Given the description of an element on the screen output the (x, y) to click on. 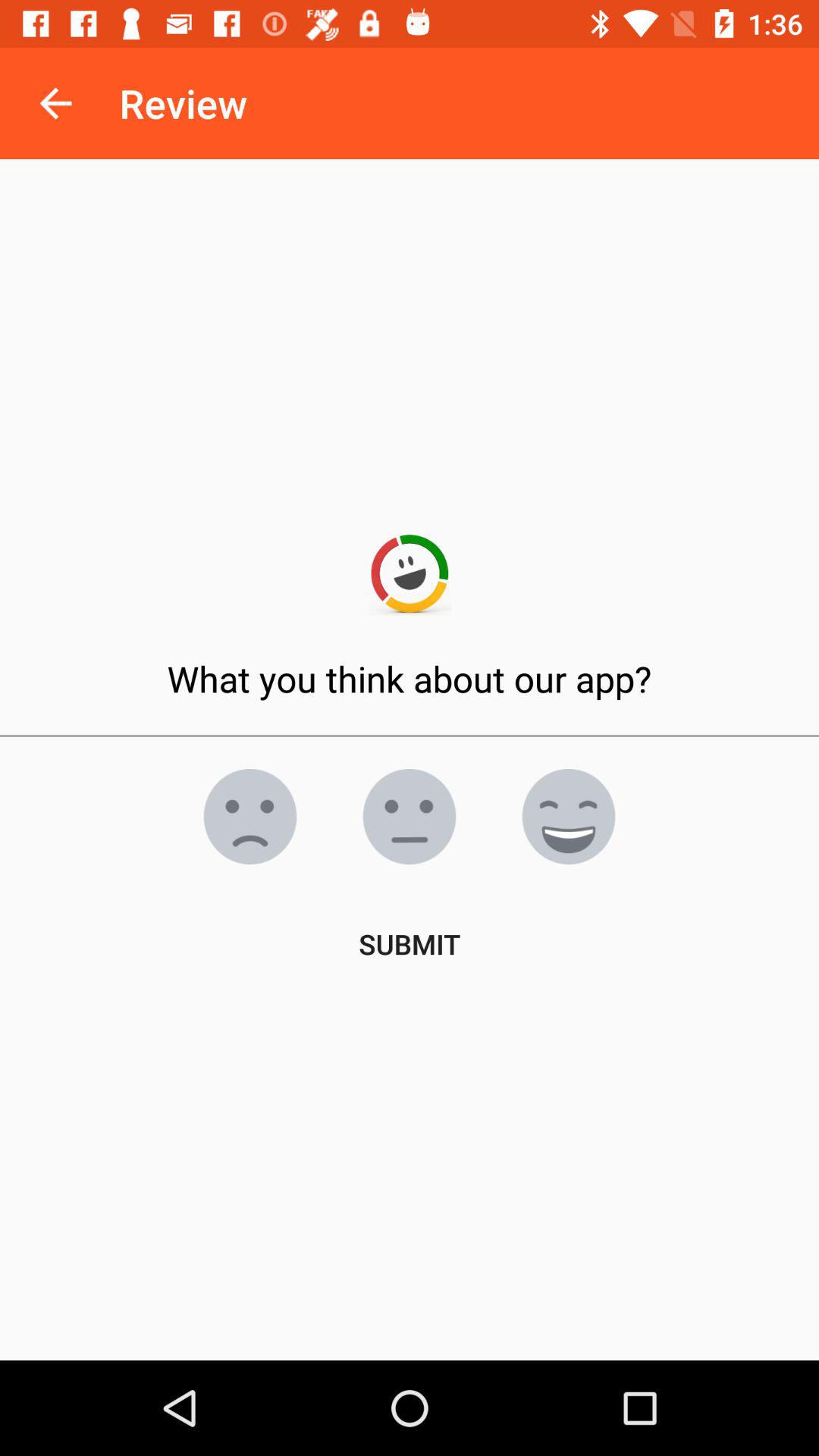
likee (409, 816)
